Given the description of an element on the screen output the (x, y) to click on. 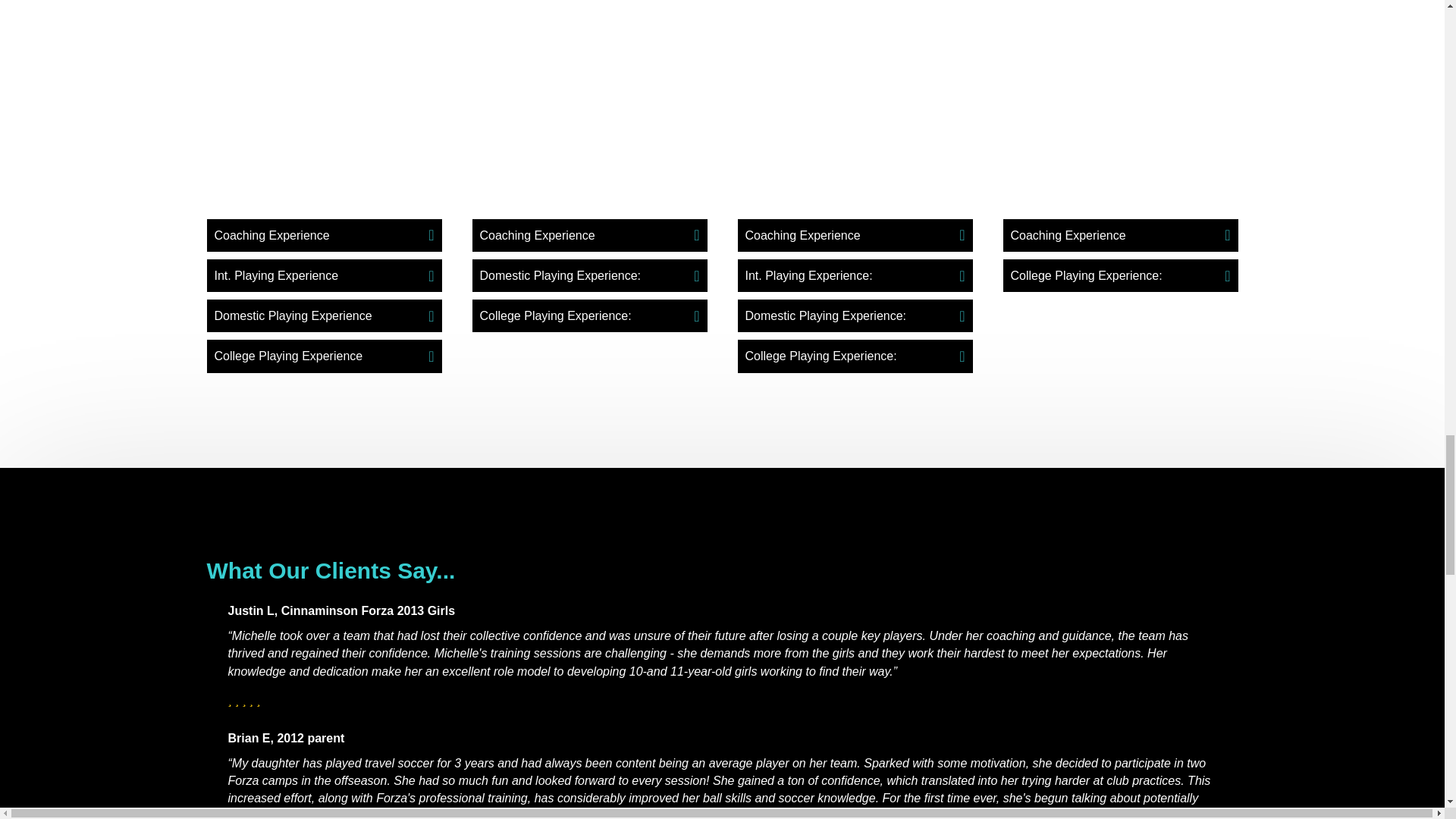
tiffany2 (588, 94)
photo soon (854, 94)
michelle (323, 94)
krista2 (1120, 94)
